Given the description of an element on the screen output the (x, y) to click on. 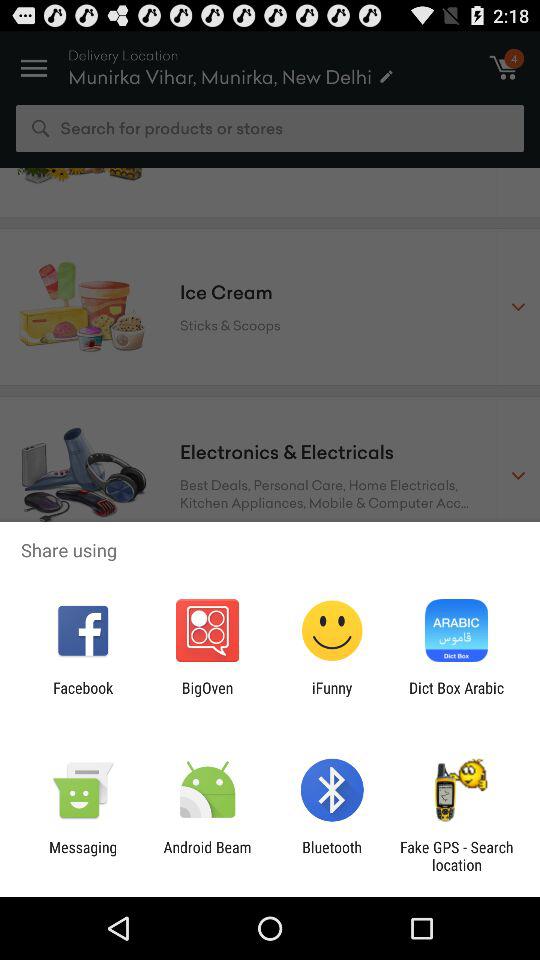
choose android beam (207, 856)
